Given the description of an element on the screen output the (x, y) to click on. 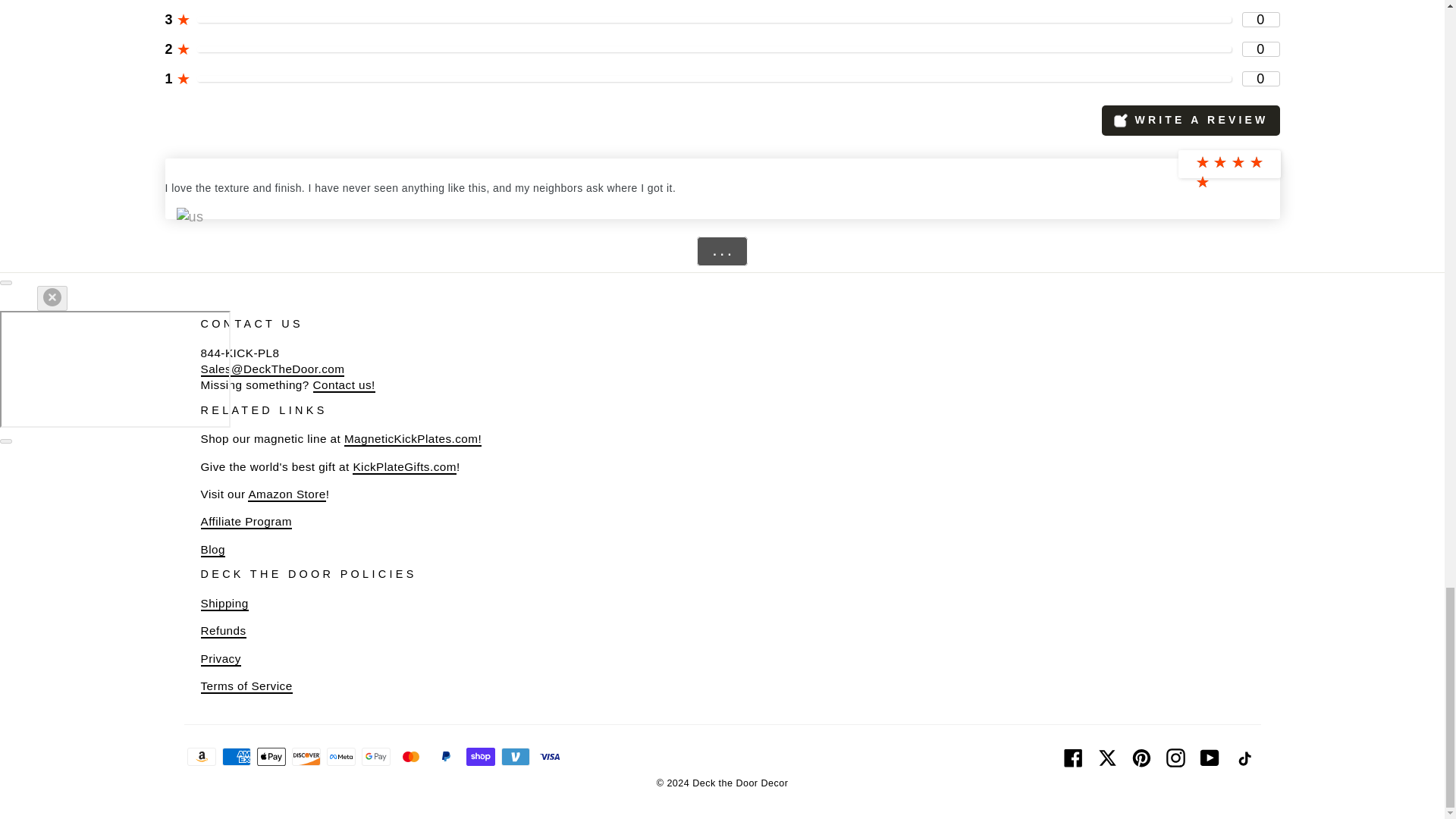
Contact Us (343, 385)
Refund Policy (223, 631)
Meta Pay (340, 756)
American Express (235, 756)
Apple Pay (270, 756)
Amazon (200, 756)
Discover (305, 756)
Affiliate Program (245, 522)
Shipping Policy (223, 603)
Privacy Policy (220, 658)
